Given the description of an element on the screen output the (x, y) to click on. 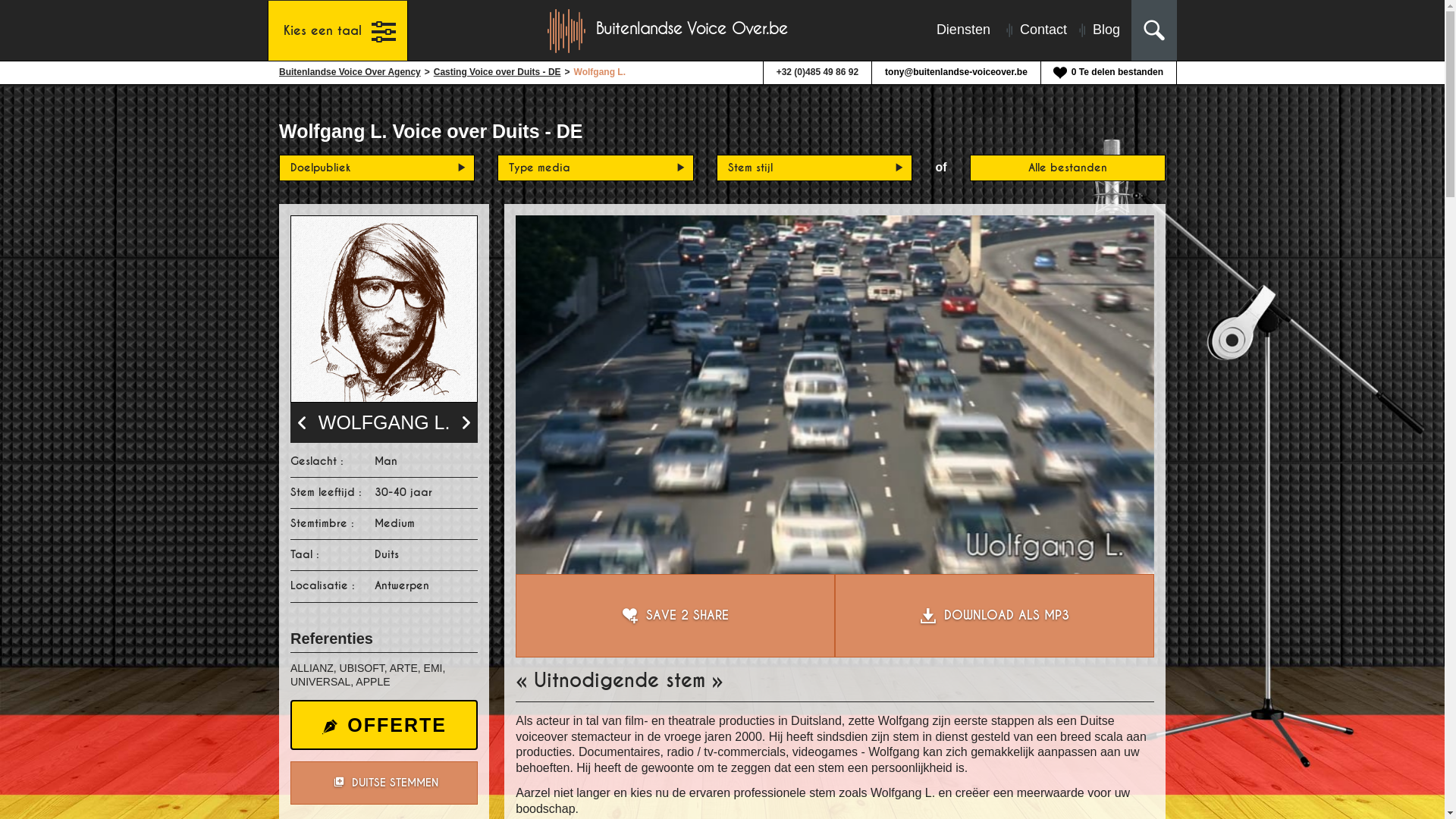
Wolfgang L. Element type: hover (383, 308)
+32 (0)485 49 86 92 Element type: text (817, 72)
Doelpubliek Element type: text (376, 167)
Contact Element type: text (1030, 29)
OFFERTE Element type: text (383, 724)
Stem stijl Element type: text (814, 167)
DUITSE STEMMEN Element type: text (383, 782)
tony@buitenlandse-voiceover.be Element type: text (955, 72)
Casting Voice over Duits - DE Element type: text (497, 72)
Diensten Element type: text (961, 29)
Ralf J. Element type: hover (303, 422)
Blog Element type: text (1093, 29)
Franz T. Element type: hover (464, 422)
Kies een taal Element type: text (337, 29)
Type media Element type: text (595, 167)
Wolfgang L. - Uitnodigende stem Element type: hover (834, 394)
Alle bestanden Element type: text (1067, 167)
Buitenlandse Voice Over.be Element type: text (668, 30)
DOWNLOAD ALS MP3 Element type: text (994, 615)
0 Te delen bestanden Element type: text (1108, 72)
Buitenlandse Voice Over Agency Element type: text (349, 72)
SAVE 2 SHARE Element type: text (674, 615)
